Given the description of an element on the screen output the (x, y) to click on. 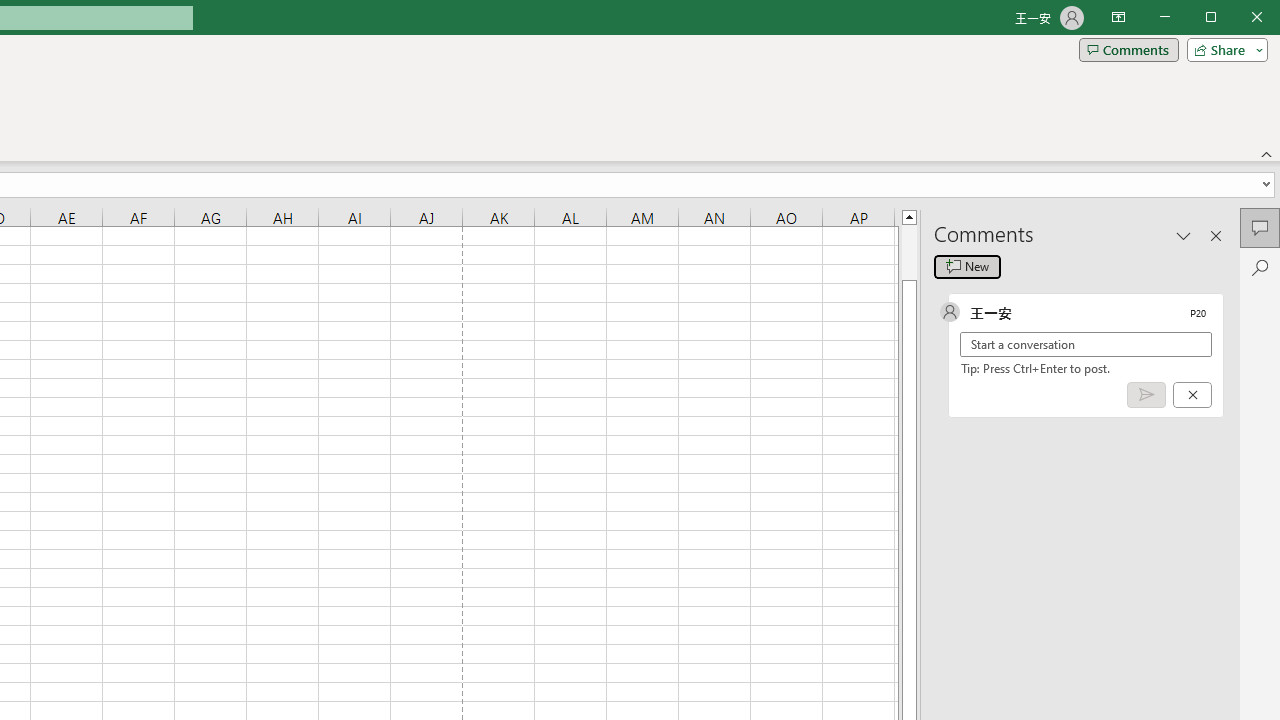
Page up (909, 252)
